Given the description of an element on the screen output the (x, y) to click on. 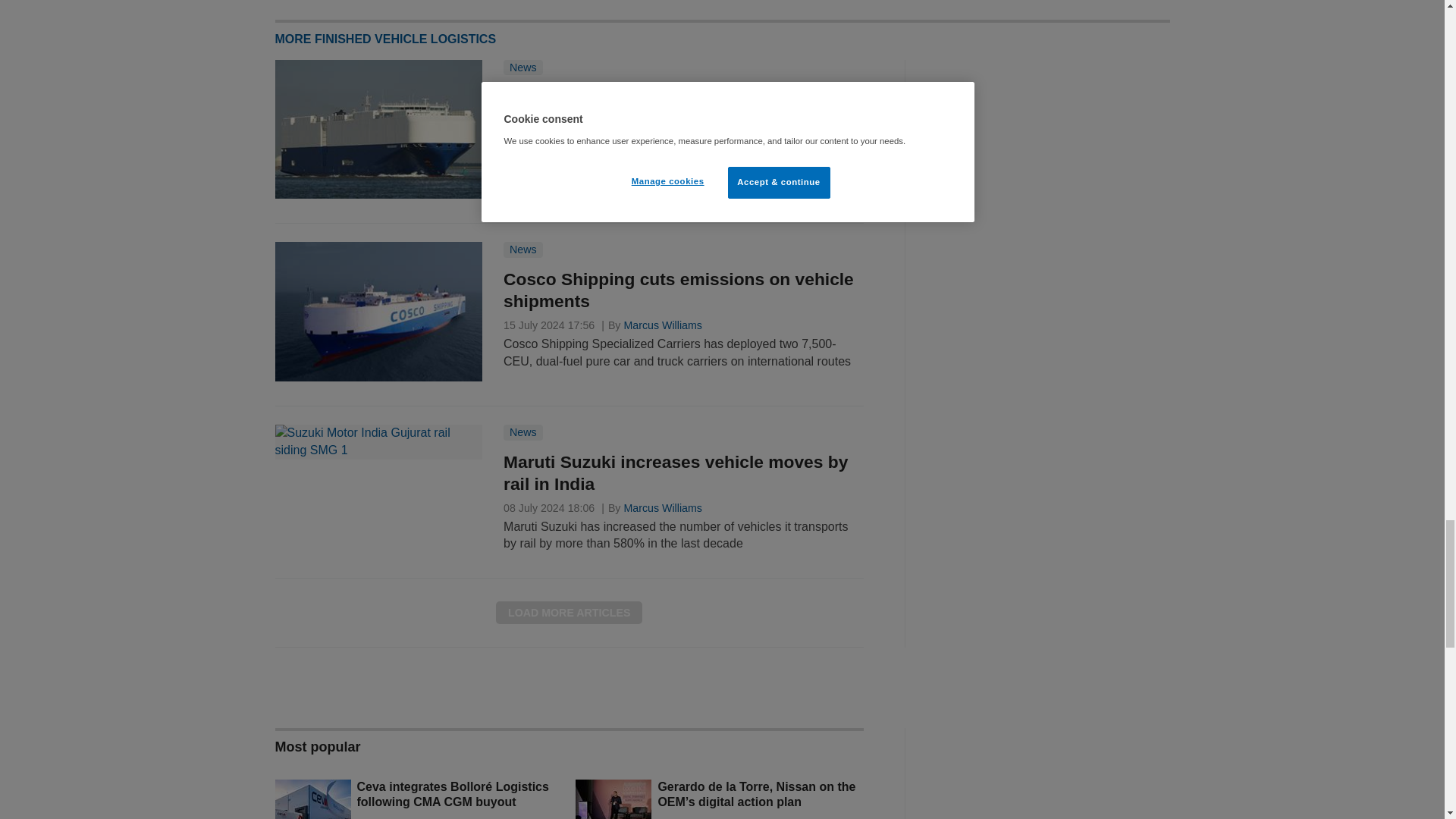
3rd party ad content (1055, 9)
3rd party ad content (1055, 154)
